Given the description of an element on the screen output the (x, y) to click on. 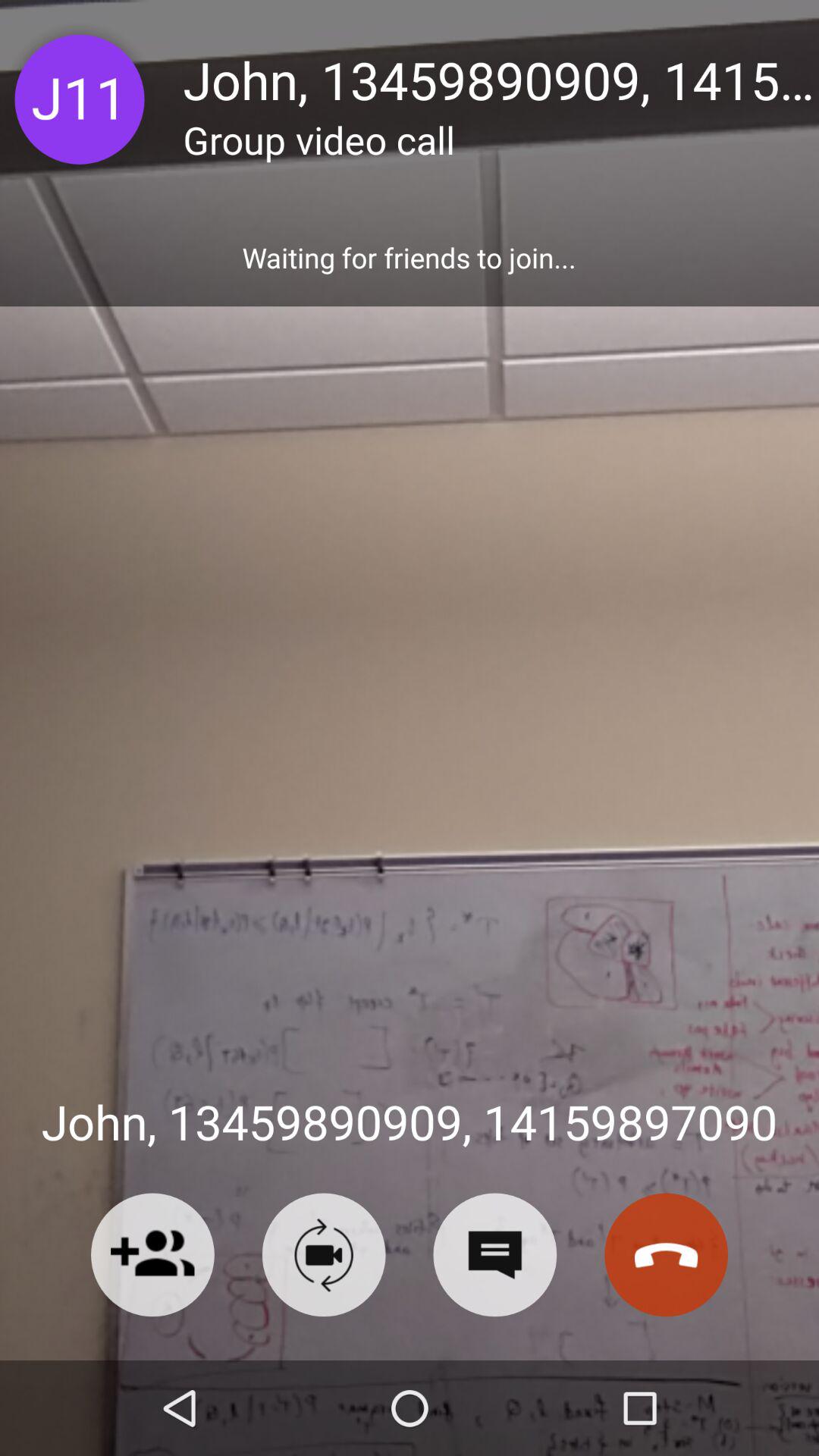
add friends (152, 1254)
